Given the description of an element on the screen output the (x, y) to click on. 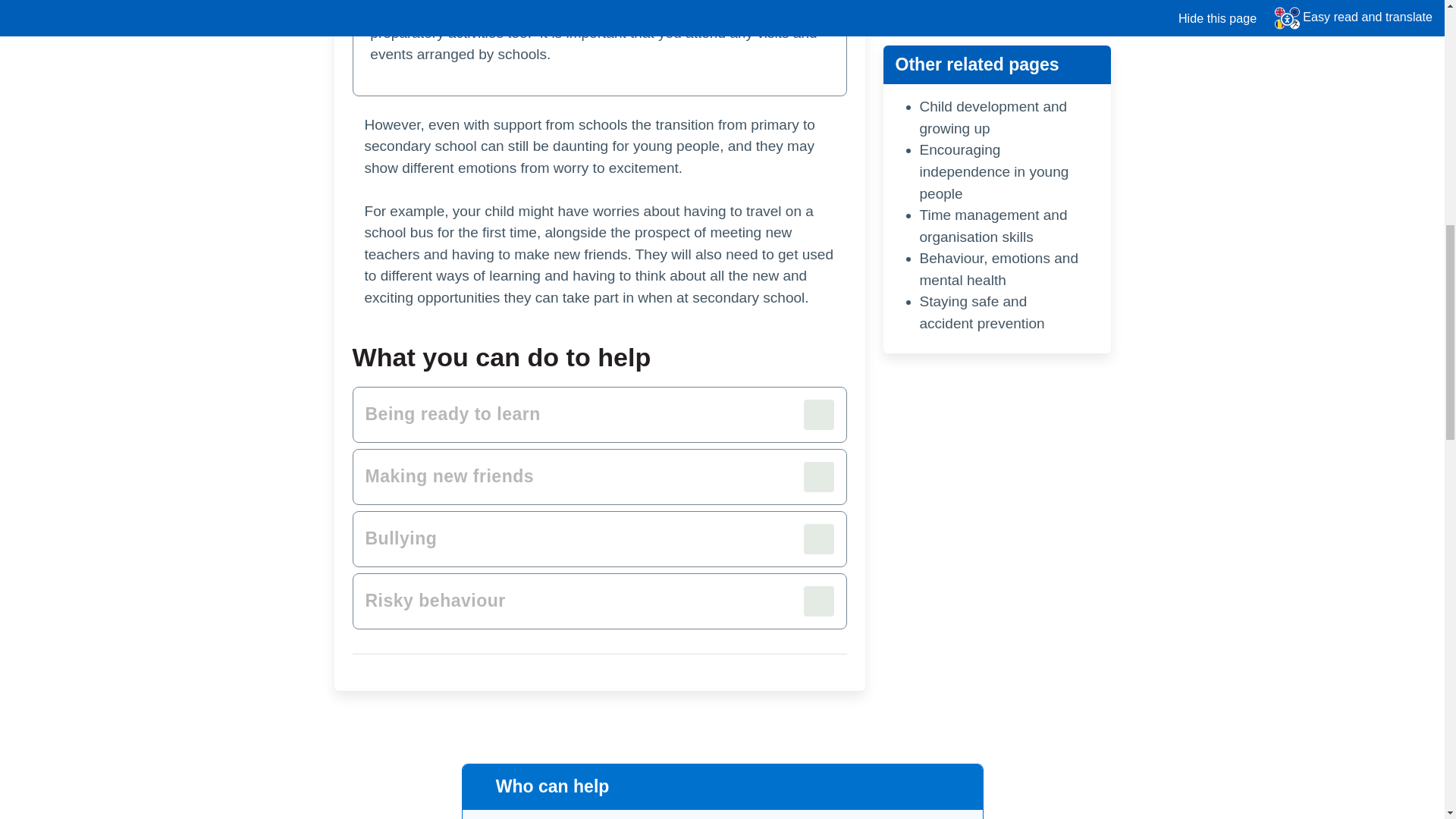
expand content (599, 476)
expand content (599, 601)
expand content (599, 414)
expand content (599, 538)
